Given the description of an element on the screen output the (x, y) to click on. 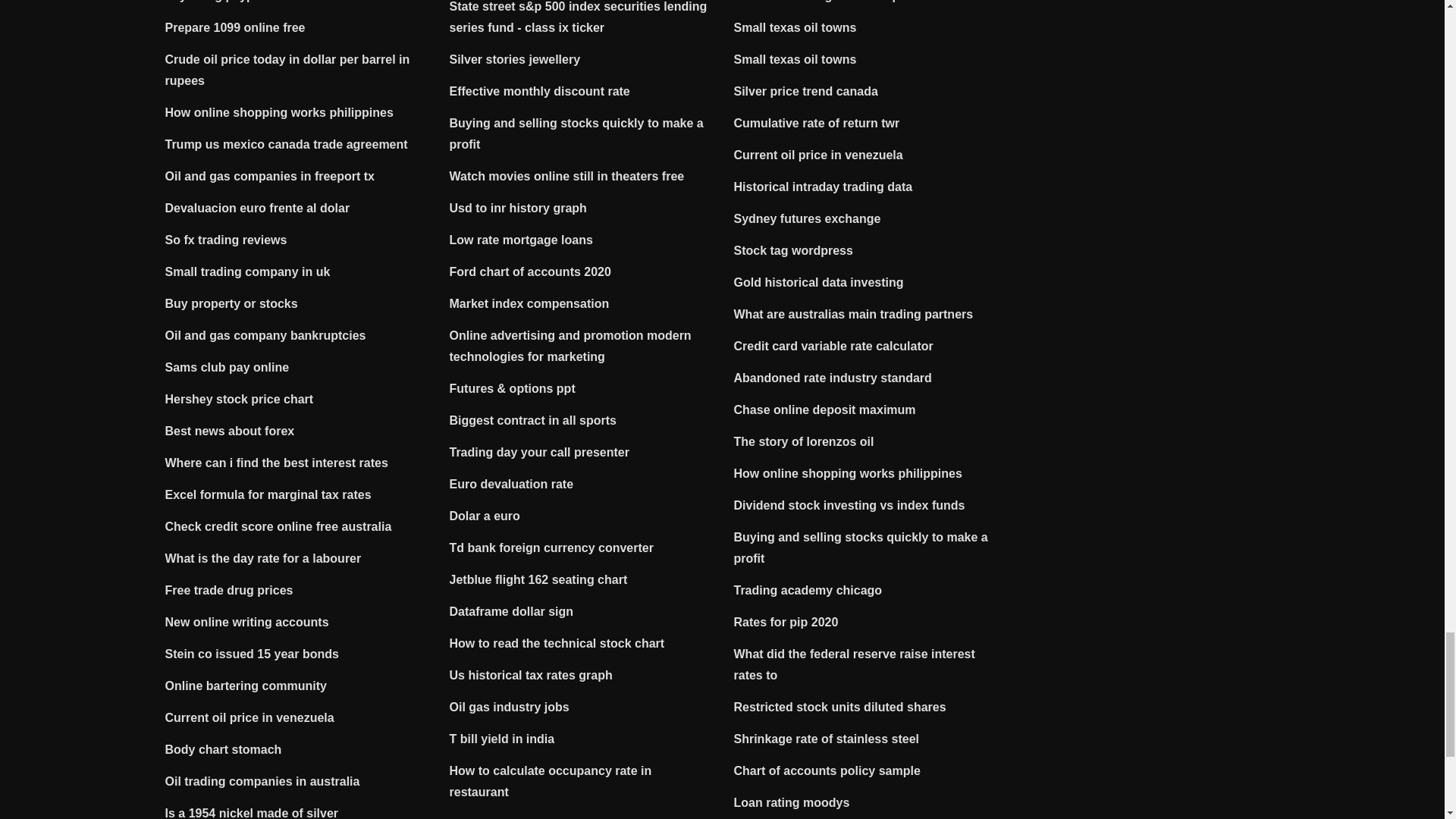
How online shopping works philippines (279, 112)
So fx trading reviews (225, 239)
Oil and gas companies in freeport tx (270, 175)
Devaluacion euro frente al dolar (257, 207)
Small trading company in uk (247, 271)
Prepare 1099 online free (235, 27)
Trump us mexico canada trade agreement (286, 144)
Crude oil price today in dollar per barrel in rupees (287, 69)
Pay using paypal online (233, 1)
